Given the description of an element on the screen output the (x, y) to click on. 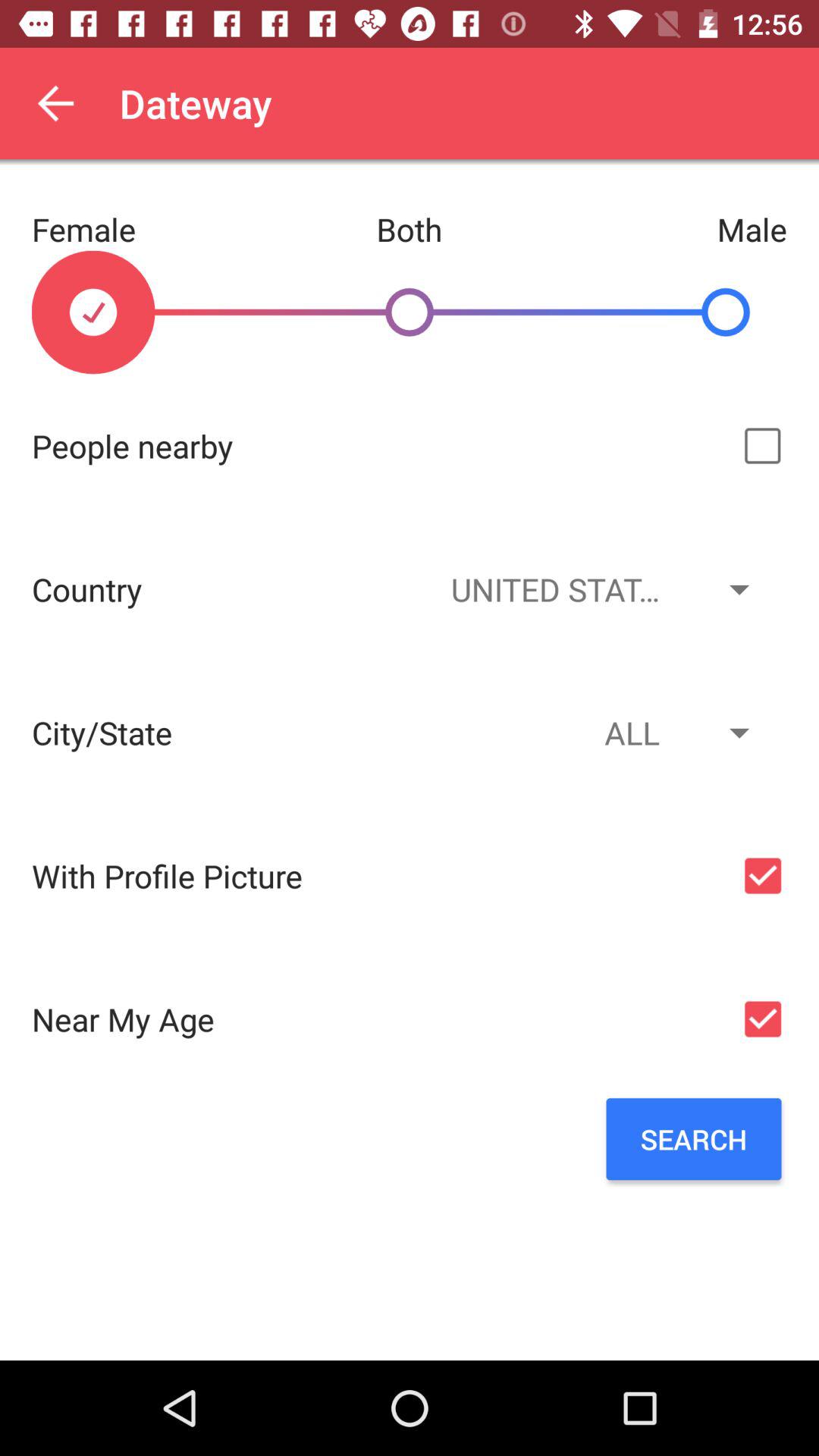
click to profile picture (762, 875)
